Given the description of an element on the screen output the (x, y) to click on. 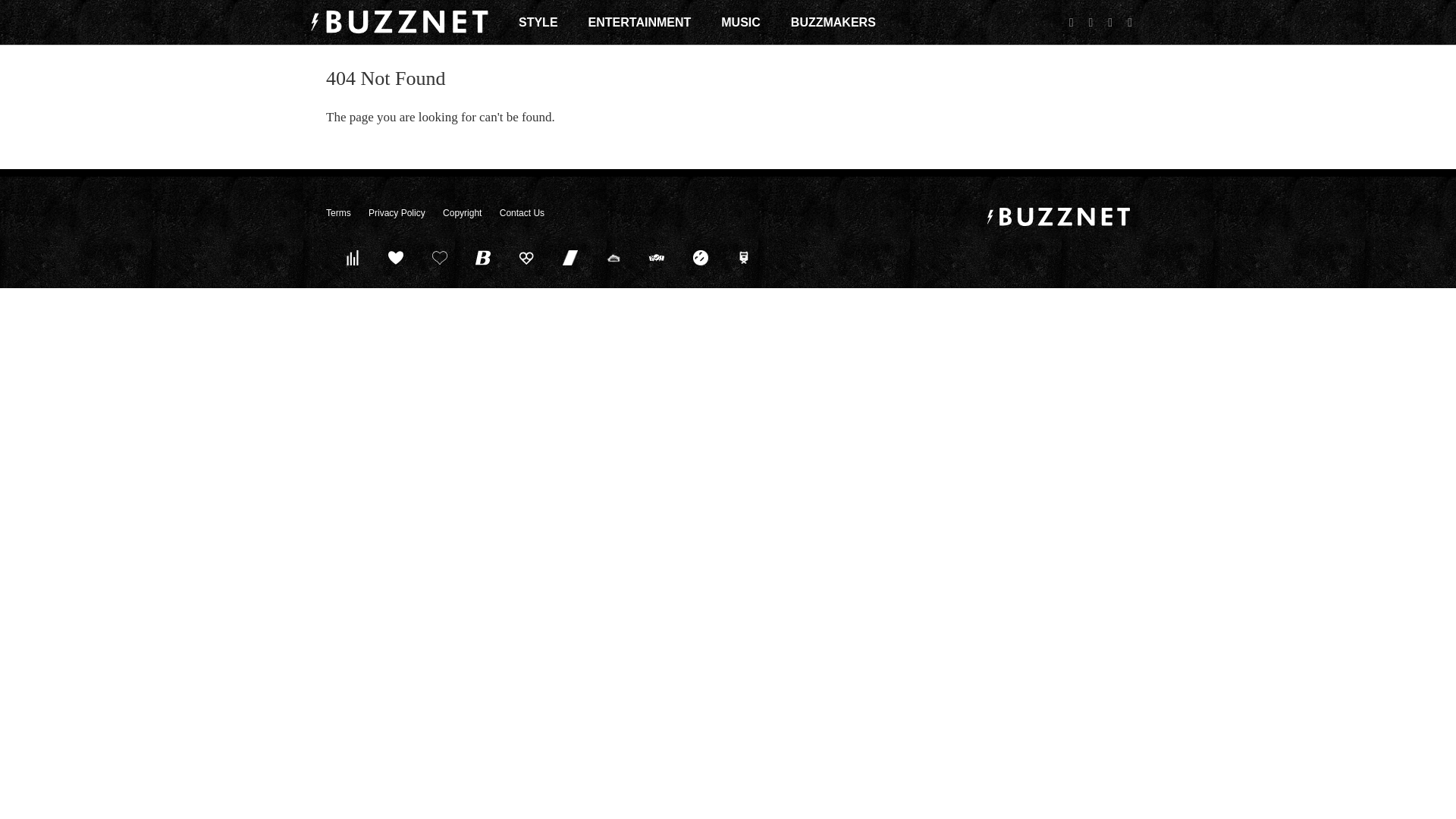
Trend Chaser (570, 257)
Terms (338, 213)
Explored Hollywood (743, 257)
Idolator (395, 257)
Post Fun (439, 257)
STYLE (538, 22)
Taco Relish (612, 257)
ENTERTAINMENT (639, 22)
BUZZMAKERS (833, 22)
Pure Volume (351, 257)
Copyright (461, 213)
Quizscape (656, 257)
Contact Us (521, 213)
Hooch (526, 257)
Privacy Policy (396, 213)
